Given the description of an element on the screen output the (x, y) to click on. 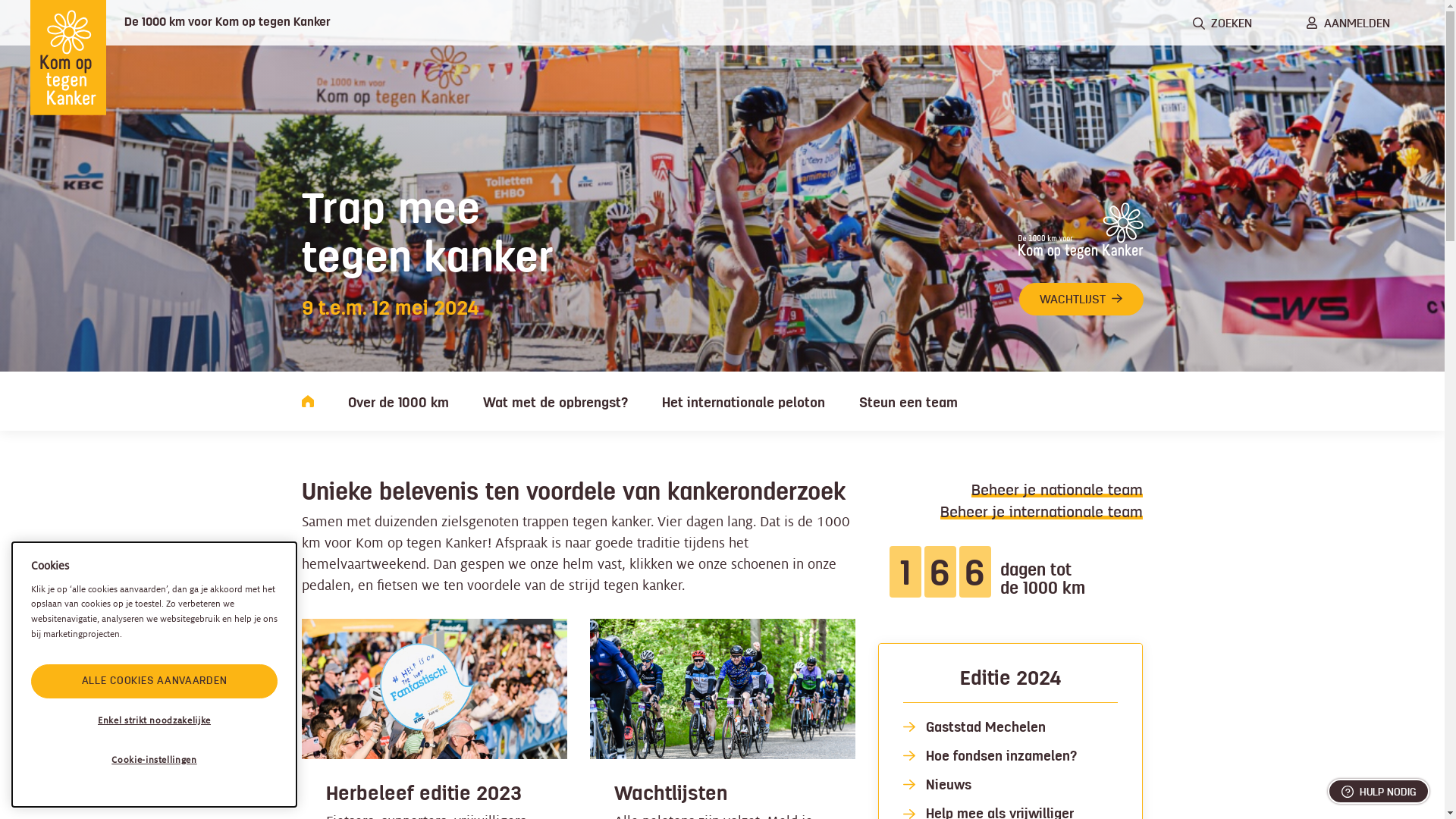
Steun een team Element type: text (907, 400)
Over de 1000 km Element type: text (397, 400)
Cookie-instellingen Element type: text (154, 760)
Overslaan en naar de inhoud gaan Element type: text (0, 0)
Hoe fondsen inzamelen? Element type: text (1000, 755)
De 1000 km Element type: text (307, 400)
WACHTLIJST Element type: text (1081, 298)
Beheer je nationale team Element type: text (1056, 489)
Nieuws Element type: text (947, 784)
Wat met de opbrengst? Element type: text (554, 400)
HULP NODIG Element type: text (1378, 790)
Het internationale peloton Element type: text (742, 400)
AANMELDEN Element type: text (1348, 22)
Beheer je internationale team Element type: text (1041, 511)
ZOEKEN Element type: text (1221, 22)
Enkel strikt noodzakelijke Element type: text (154, 721)
ALLE COOKIES AANVAARDEN Element type: text (154, 680)
Gaststad Mechelen Element type: text (984, 727)
